Given the description of an element on the screen output the (x, y) to click on. 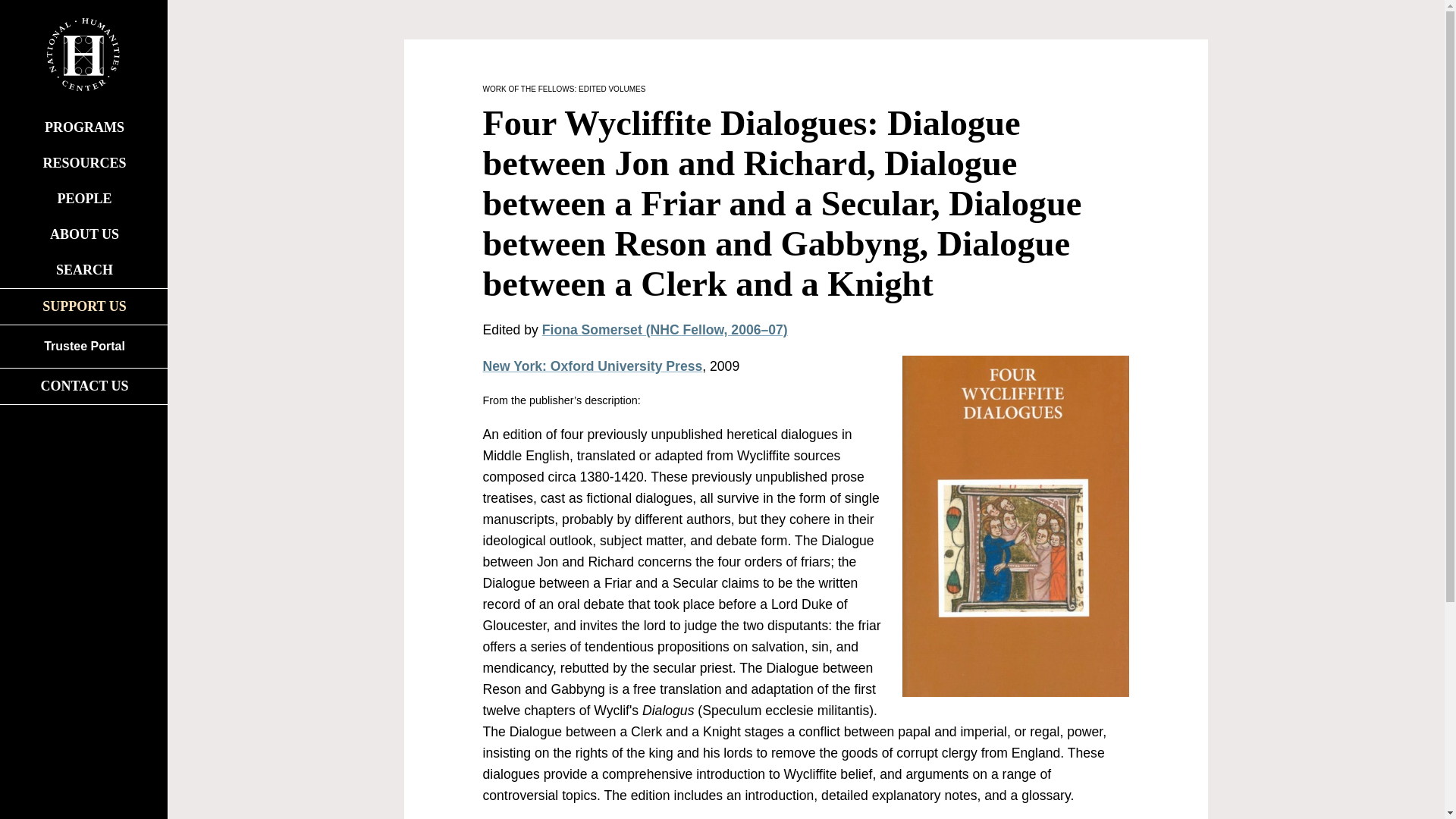
SEARCH (83, 270)
RESOURCES (83, 162)
SUPPORT US (83, 306)
ABOUT US (83, 234)
PROGRAMS (83, 127)
PEOPLE (83, 198)
